Given the description of an element on the screen output the (x, y) to click on. 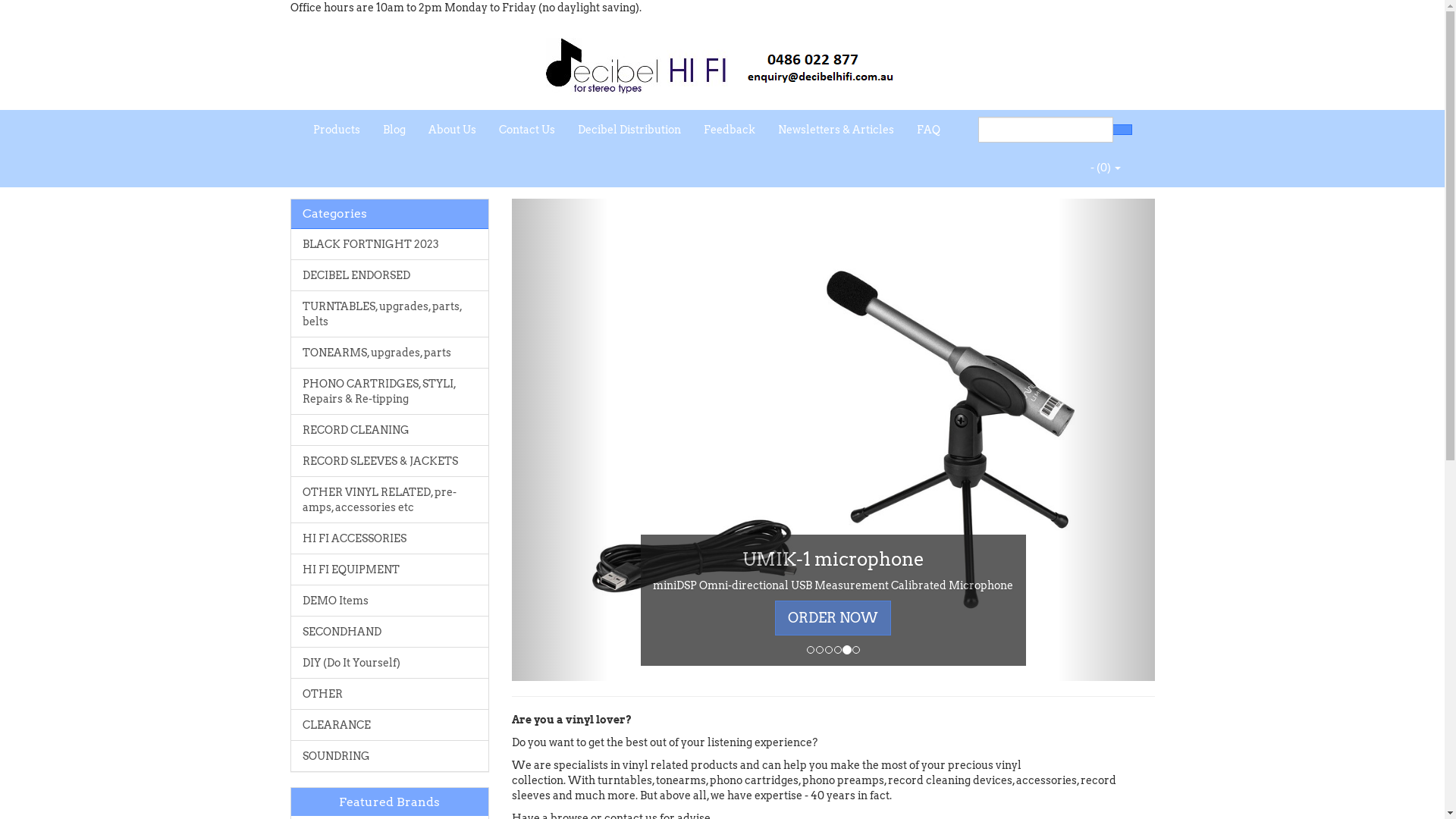
DIY (Do It Yourself) Element type: text (390, 662)
HI FI ACCESSORIES Element type: text (390, 538)
TONEARMS, upgrades, parts Element type: text (390, 352)
Newsletters & Articles Element type: text (834, 129)
About Us Element type: text (452, 129)
Contact Us Element type: text (525, 129)
Feedback Element type: text (728, 129)
HI FI EQUIPMENT Element type: text (390, 569)
Search Element type: text (1121, 129)
Blog Element type: text (394, 129)
PHONO CARTRIDGES, STYLI, Repairs & Re-tipping Element type: text (390, 390)
SOUNDRING Element type: text (390, 755)
BLACK FORTNIGHT 2023 Element type: text (390, 244)
TURNTABLES, upgrades, parts, belts Element type: text (390, 313)
Products Element type: text (336, 129)
RECORD CLEANING Element type: text (390, 429)
OTHER Element type: text (390, 693)
OTHER VINYL RELATED, pre-amps, accessories etc Element type: text (390, 499)
SECONDHAND Element type: text (390, 631)
Decibel Distribution Element type: text (628, 129)
DECIBEL ENDORSED Element type: text (390, 274)
- (0) Element type: text (1104, 167)
FAQ Element type: text (928, 129)
CLEARANCE Element type: text (390, 724)
DEMO Items Element type: text (390, 599)
RECORD SLEEVES & JACKETS Element type: text (390, 460)
Decibel Hi Fi Element type: hover (722, 61)
